Given the description of an element on the screen output the (x, y) to click on. 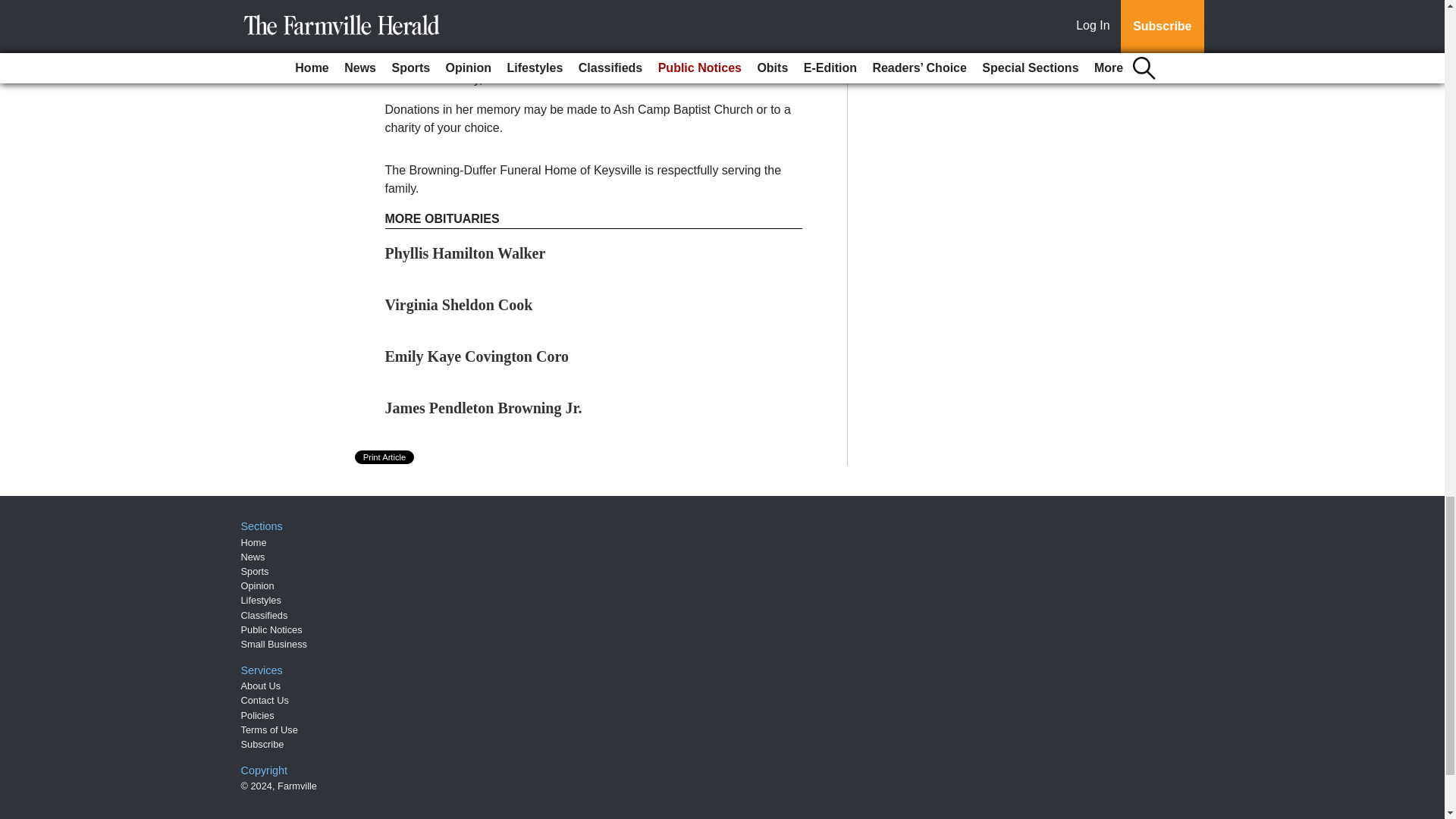
News (252, 556)
Virginia Sheldon Cook (458, 304)
James Pendleton Browning Jr. (483, 407)
Emily Kaye Covington Coro (477, 356)
Classifieds (264, 614)
Sports (255, 571)
Public Notices (271, 629)
Emily Kaye Covington Coro (477, 356)
Opinion (258, 585)
James Pendleton Browning Jr. (483, 407)
Virginia Sheldon Cook (458, 304)
Home (253, 542)
Lifestyles (261, 600)
Phyllis Hamilton Walker (465, 252)
Print Article (384, 457)
